Given the description of an element on the screen output the (x, y) to click on. 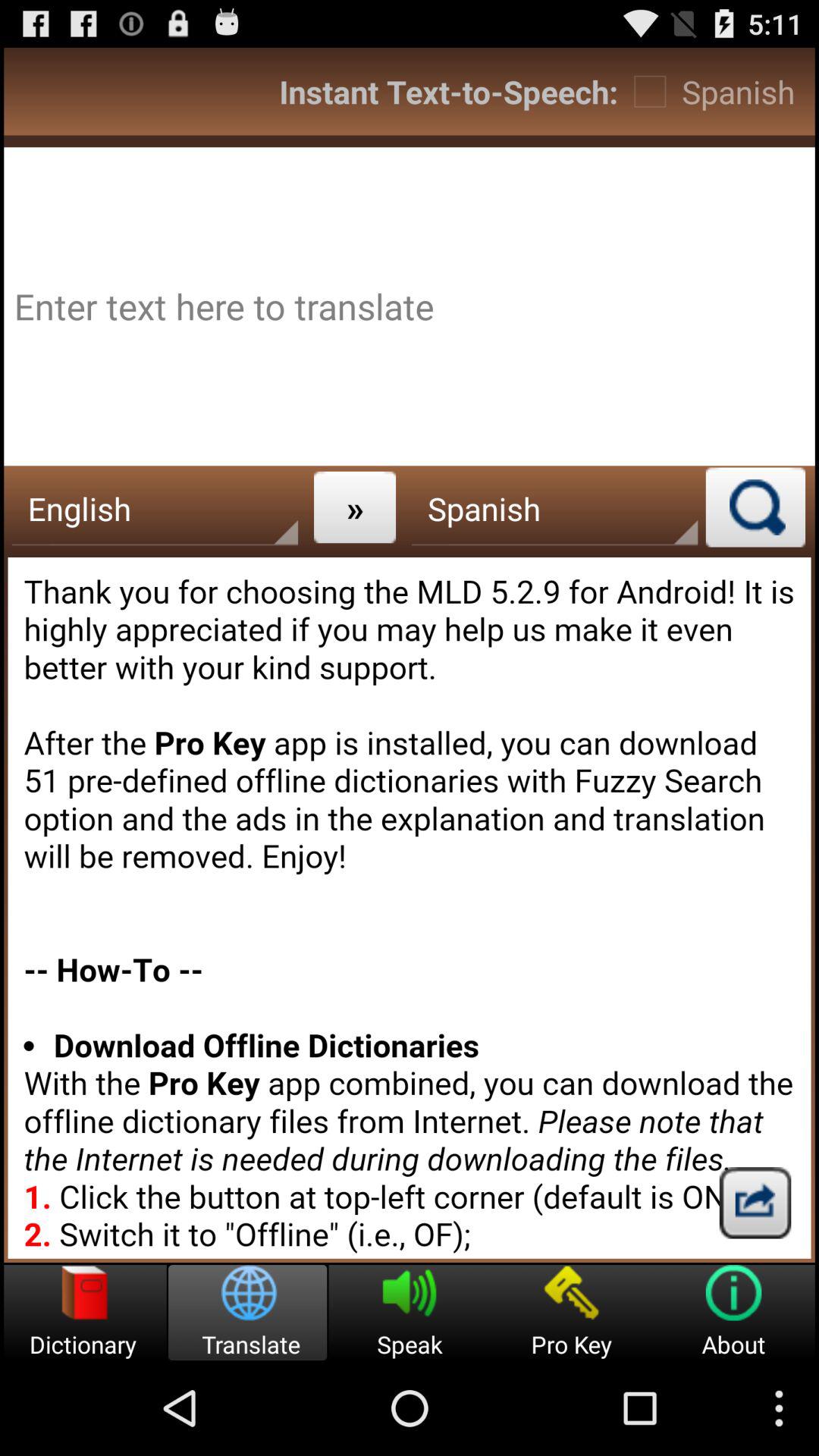
share (755, 1202)
